Given the description of an element on the screen output the (x, y) to click on. 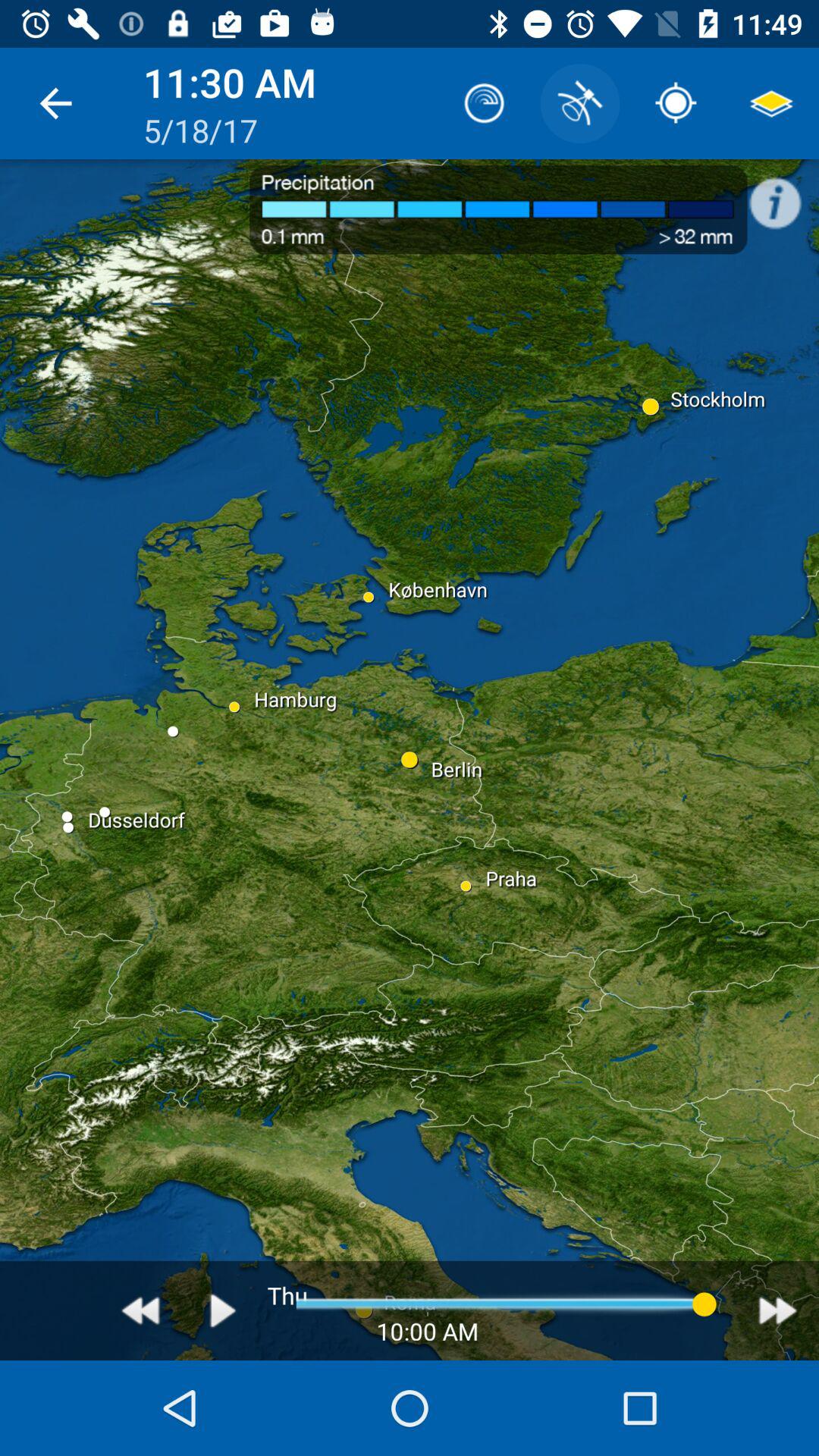
play button (223, 1310)
